Given the description of an element on the screen output the (x, y) to click on. 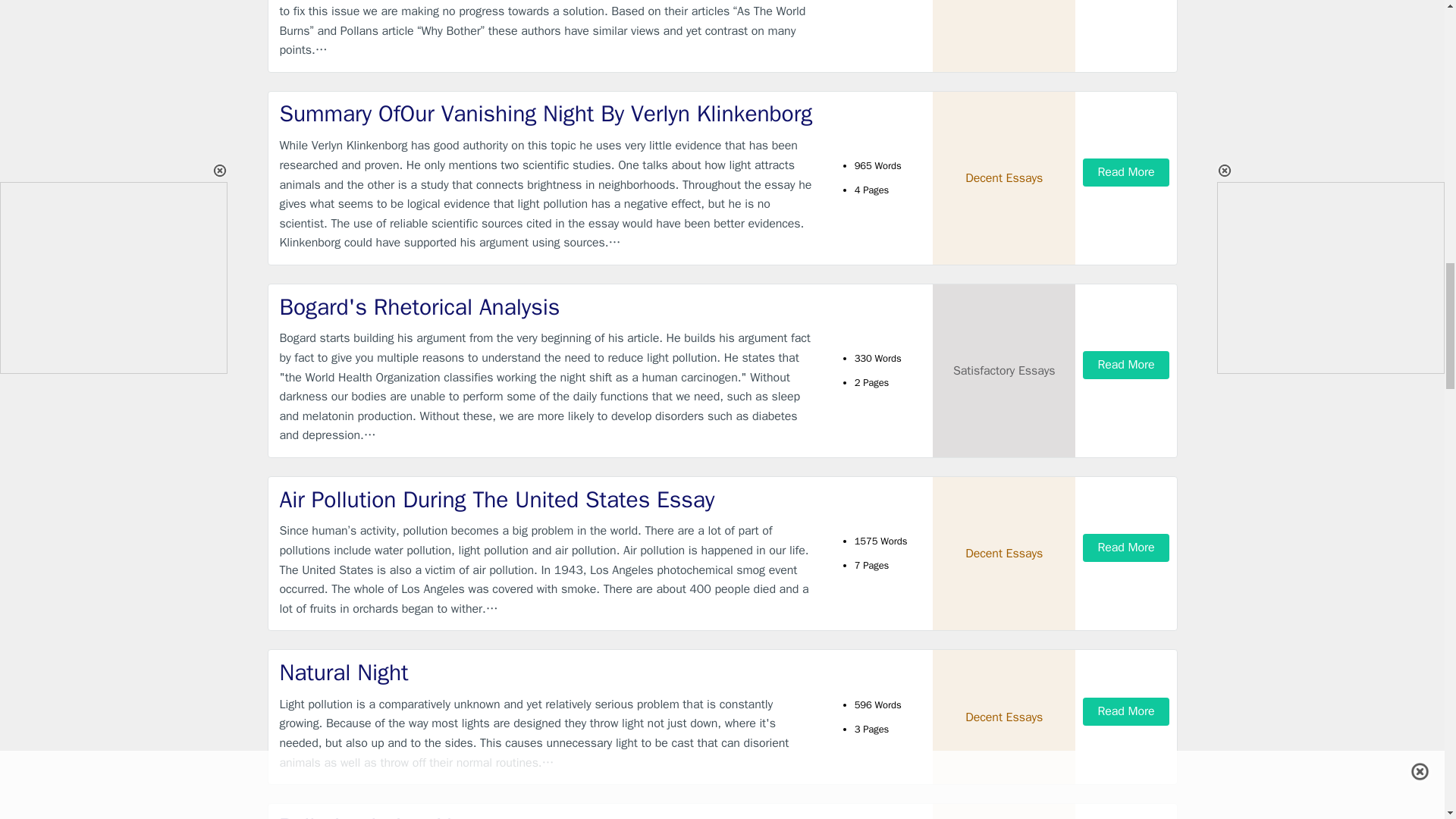
Read More (1126, 711)
Read More (1126, 172)
Bogard's Rhetorical Analysis (548, 306)
Summary OfOur Vanishing Night By Verlyn Klinkenborg (548, 113)
Natural Night (548, 672)
Air Pollution During The United States Essay (548, 499)
Pollution In Las Vegas (548, 815)
Read More (1126, 365)
Read More (1126, 547)
